Given the description of an element on the screen output the (x, y) to click on. 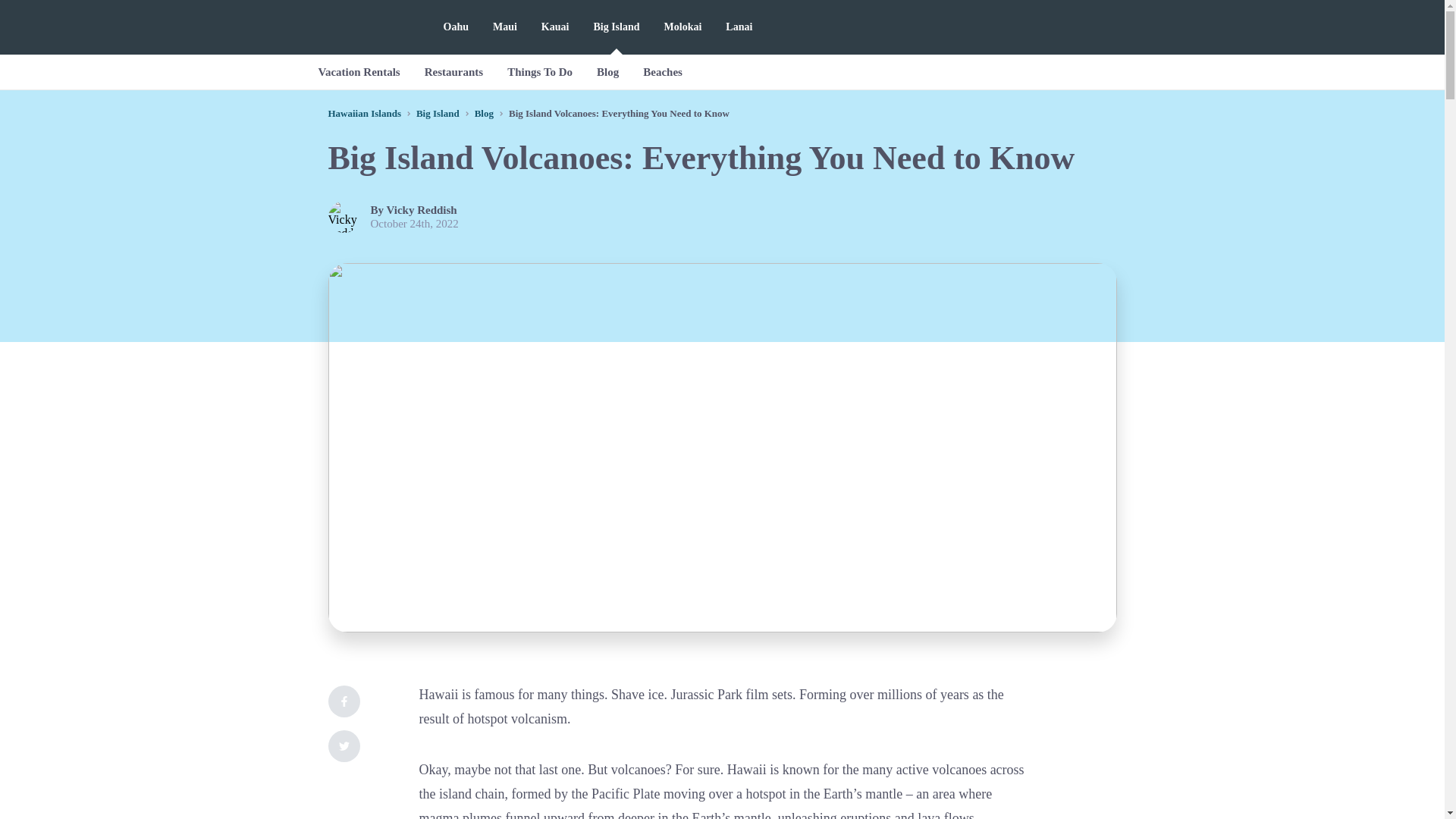
Restaurants (454, 71)
Hawaiian Islands (363, 112)
Blog (483, 112)
Beaches (662, 71)
Vacation Rentals (358, 71)
Things To Do (540, 71)
Vicky Reddish (422, 209)
Blog (607, 71)
Big Island (438, 112)
